Given the description of an element on the screen output the (x, y) to click on. 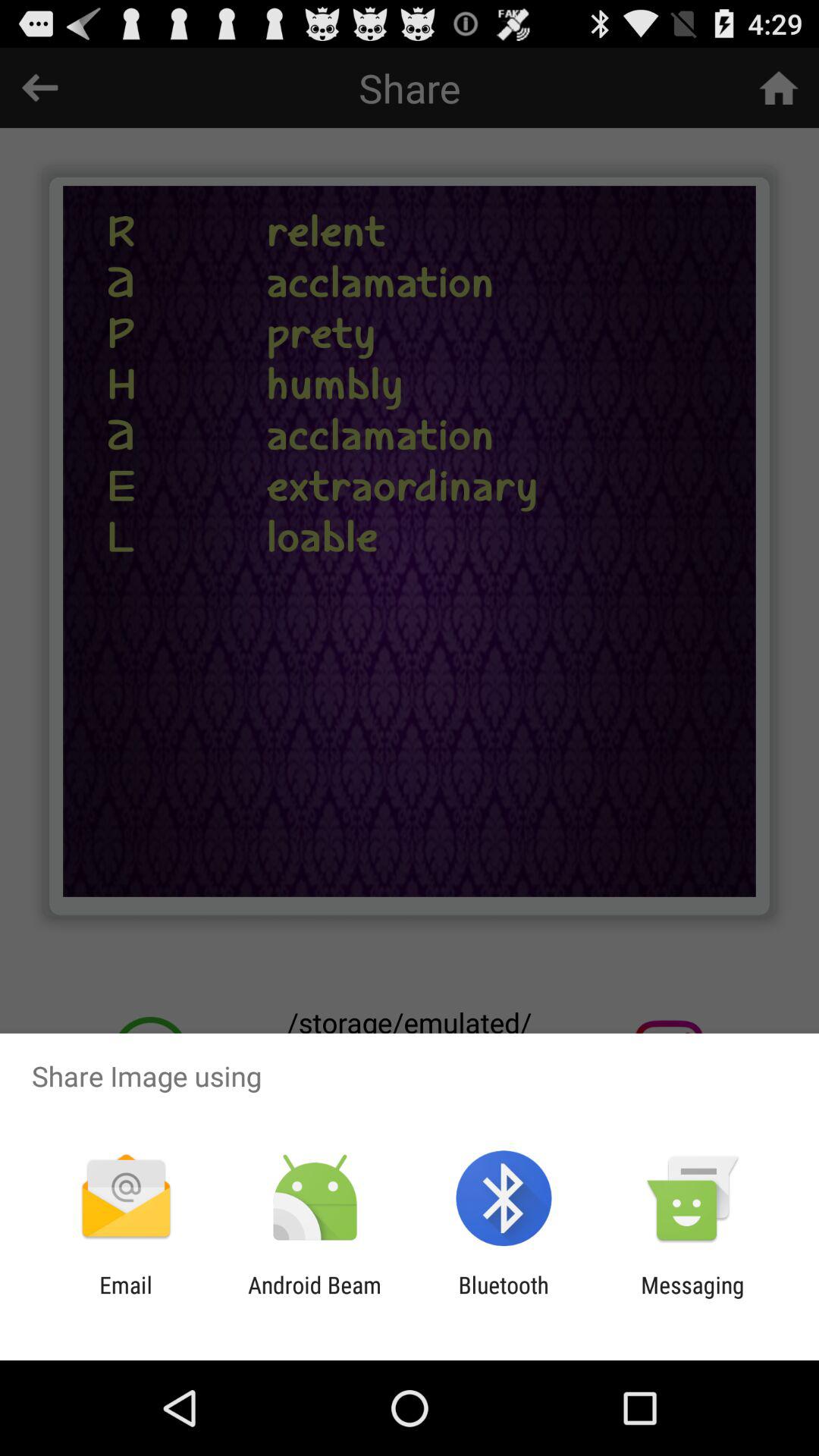
open the bluetooth icon (503, 1298)
